Given the description of an element on the screen output the (x, y) to click on. 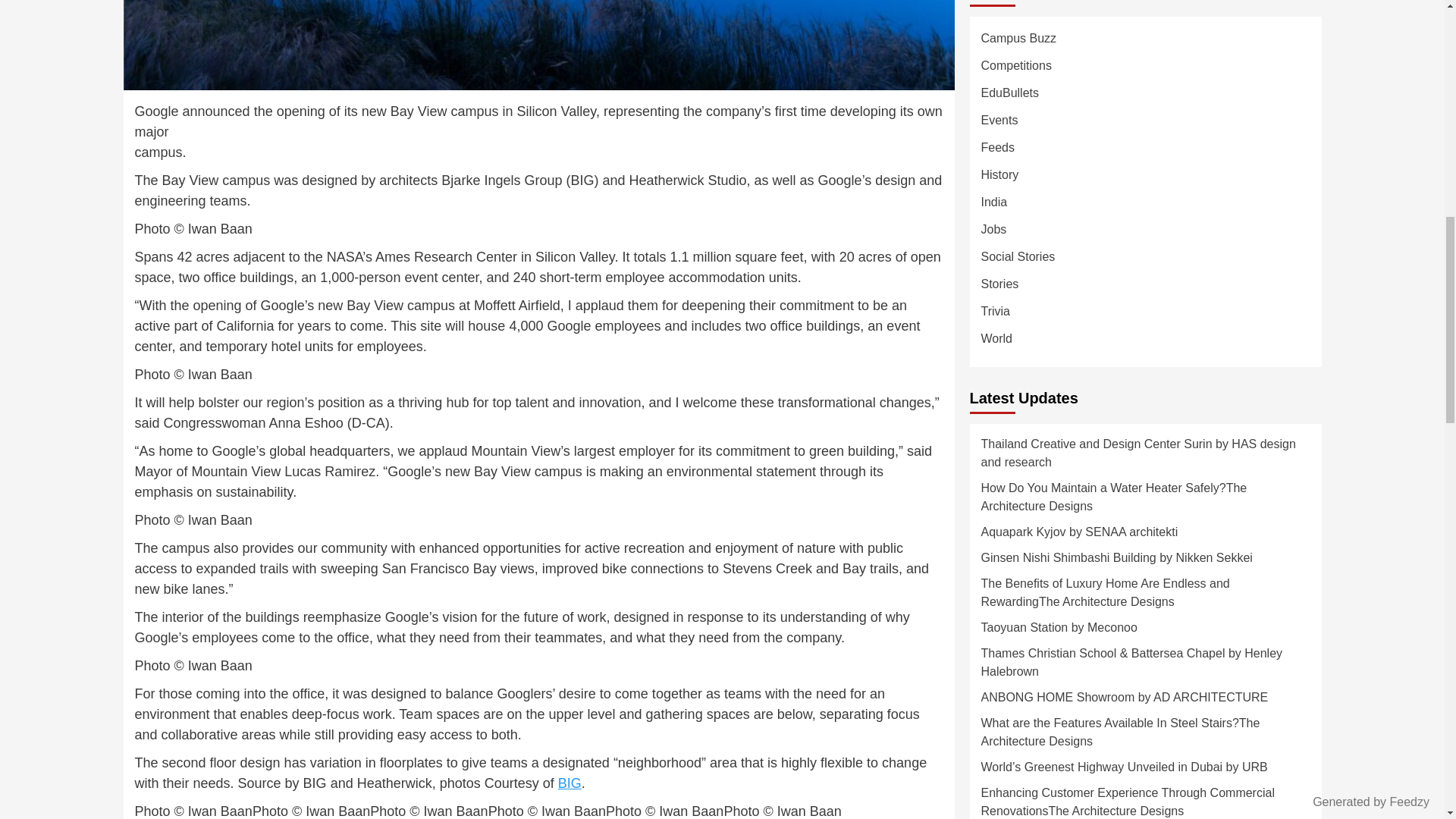
BIG (568, 783)
